Given the description of an element on the screen output the (x, y) to click on. 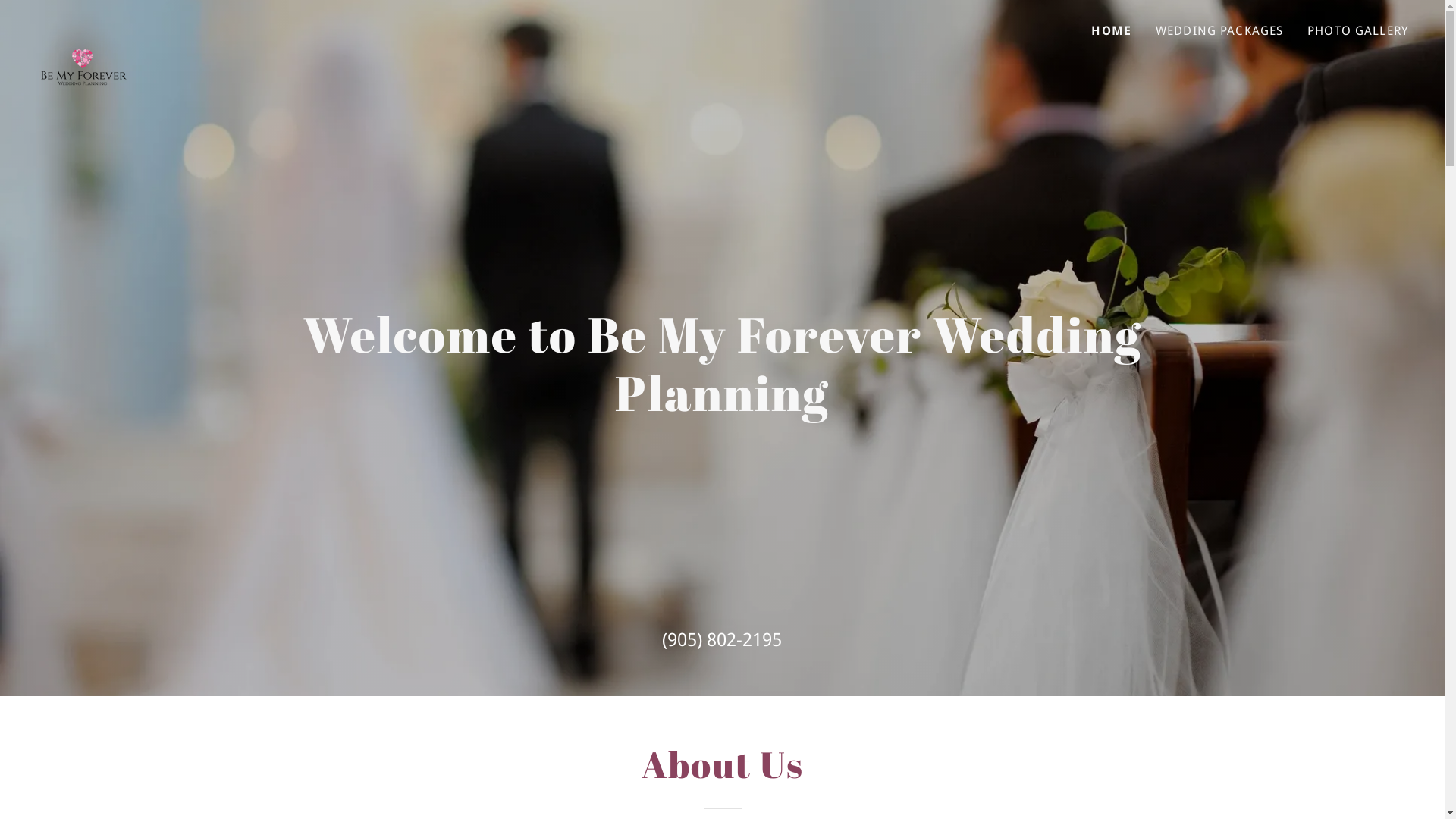
PHOTO GALLERY Element type: text (1357, 30)
Dream Day  Wedding Package Desination Element type: hover (83, 26)
(905) 802-2195 Element type: text (721, 639)
WEDDING PACKAGES Element type: text (1219, 30)
HOME Element type: text (1111, 30)
